Given the description of an element on the screen output the (x, y) to click on. 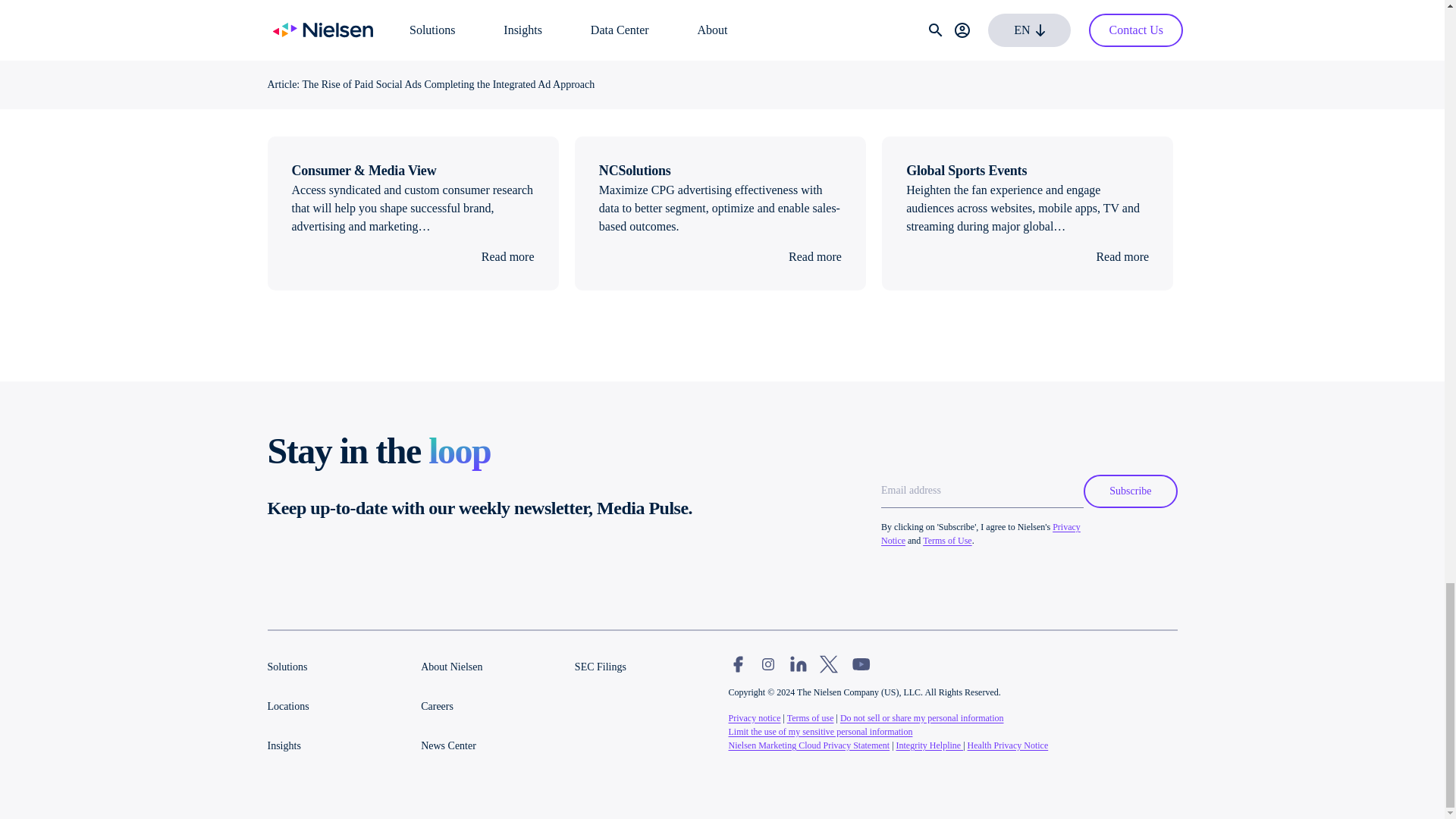
Subscribe (1129, 491)
